Given the description of an element on the screen output the (x, y) to click on. 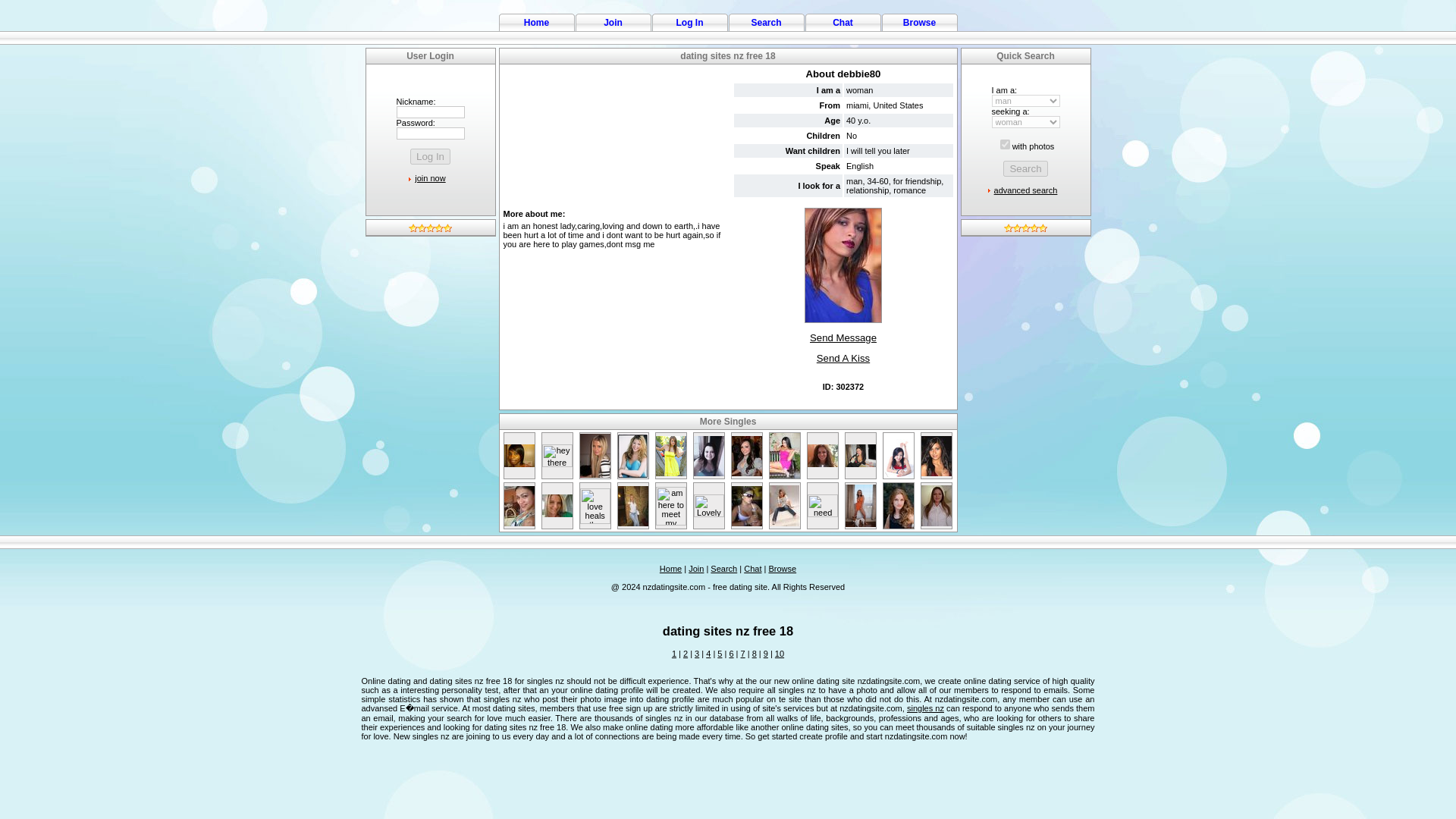
Search (723, 568)
Browse (919, 21)
Home (670, 568)
join now (429, 177)
Search (765, 21)
Join (613, 21)
Send A Kiss (842, 358)
Chat (842, 21)
Log In (690, 21)
Search (1024, 168)
